Given the description of an element on the screen output the (x, y) to click on. 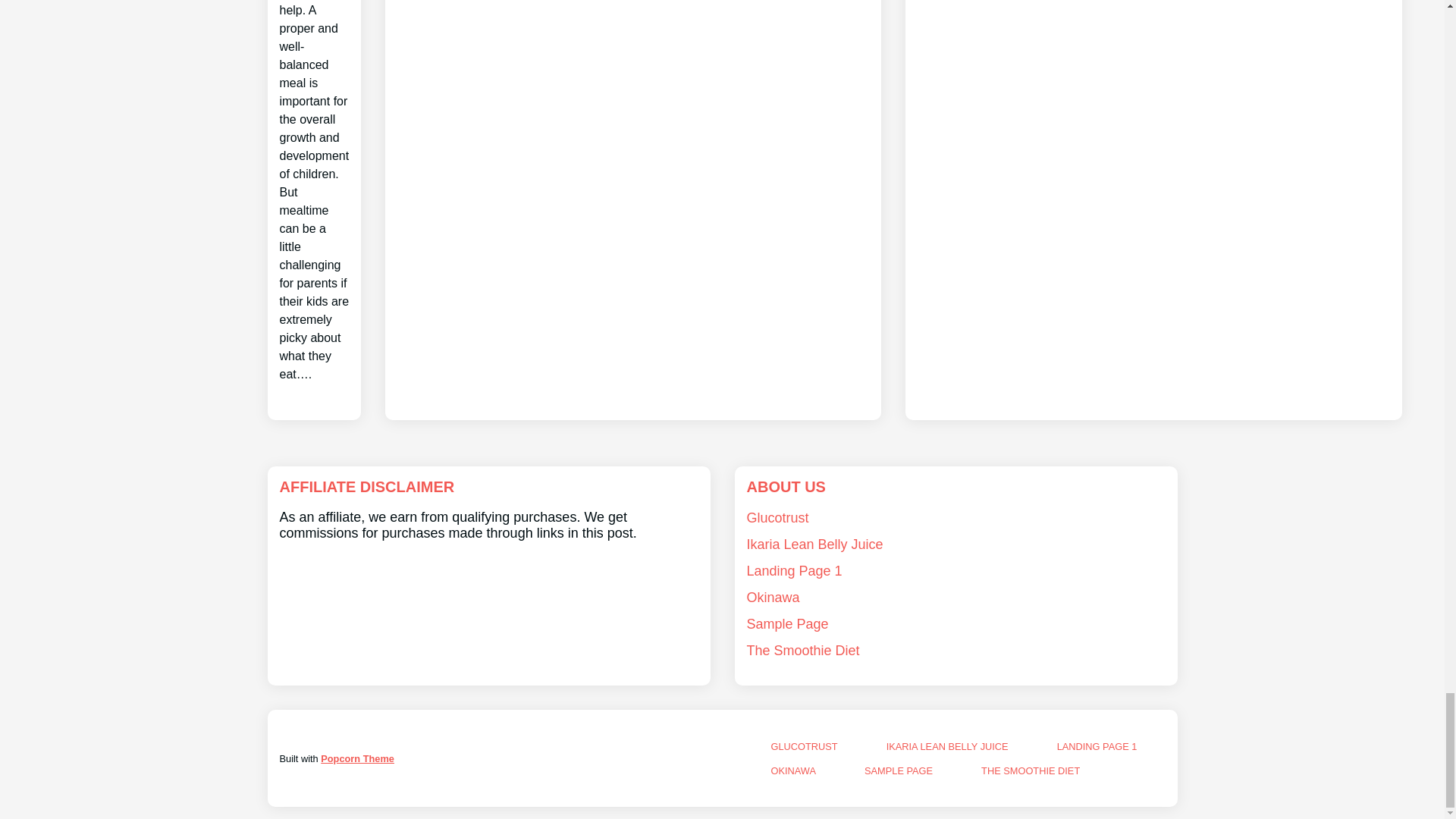
Landing Page 1 (793, 570)
THE SMOOTHIE DIET (1030, 770)
Glucotrust (776, 517)
Sample Page (786, 623)
GLUCOTRUST (803, 746)
Okinawa (772, 597)
SAMPLE PAGE (898, 770)
IKARIA LEAN BELLY JUICE (947, 746)
Popcorn Theme (357, 758)
OKINAWA (792, 770)
LANDING PAGE 1 (1097, 746)
The Smoothie Diet (802, 650)
Ikaria Lean Belly Juice (813, 544)
